Given the description of an element on the screen output the (x, y) to click on. 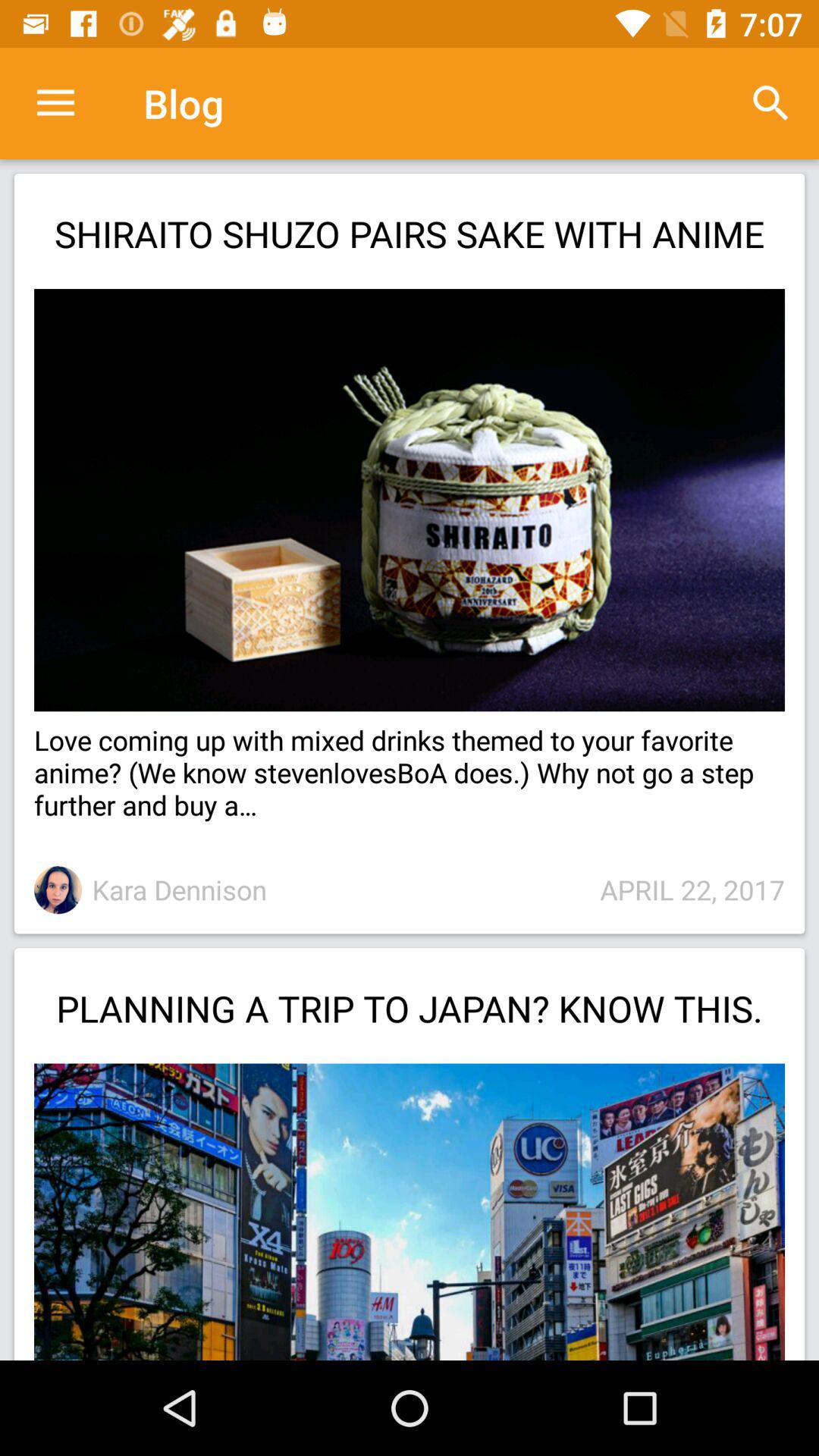
select the item at the top right corner (771, 103)
